Given the description of an element on the screen output the (x, y) to click on. 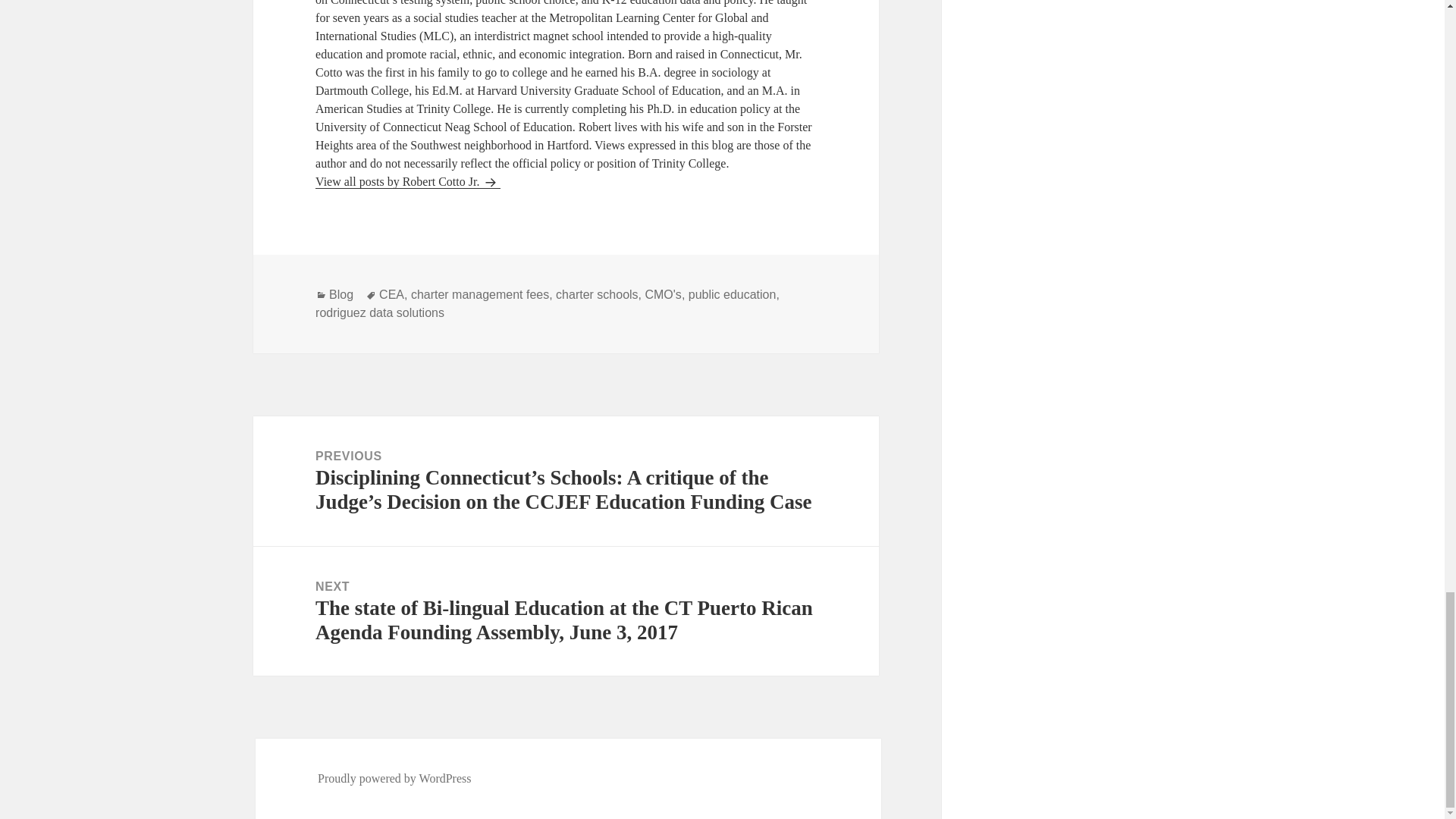
View all posts by Robert Cotto Jr. (407, 182)
CEA (391, 295)
Blog (341, 295)
